Given the description of an element on the screen output the (x, y) to click on. 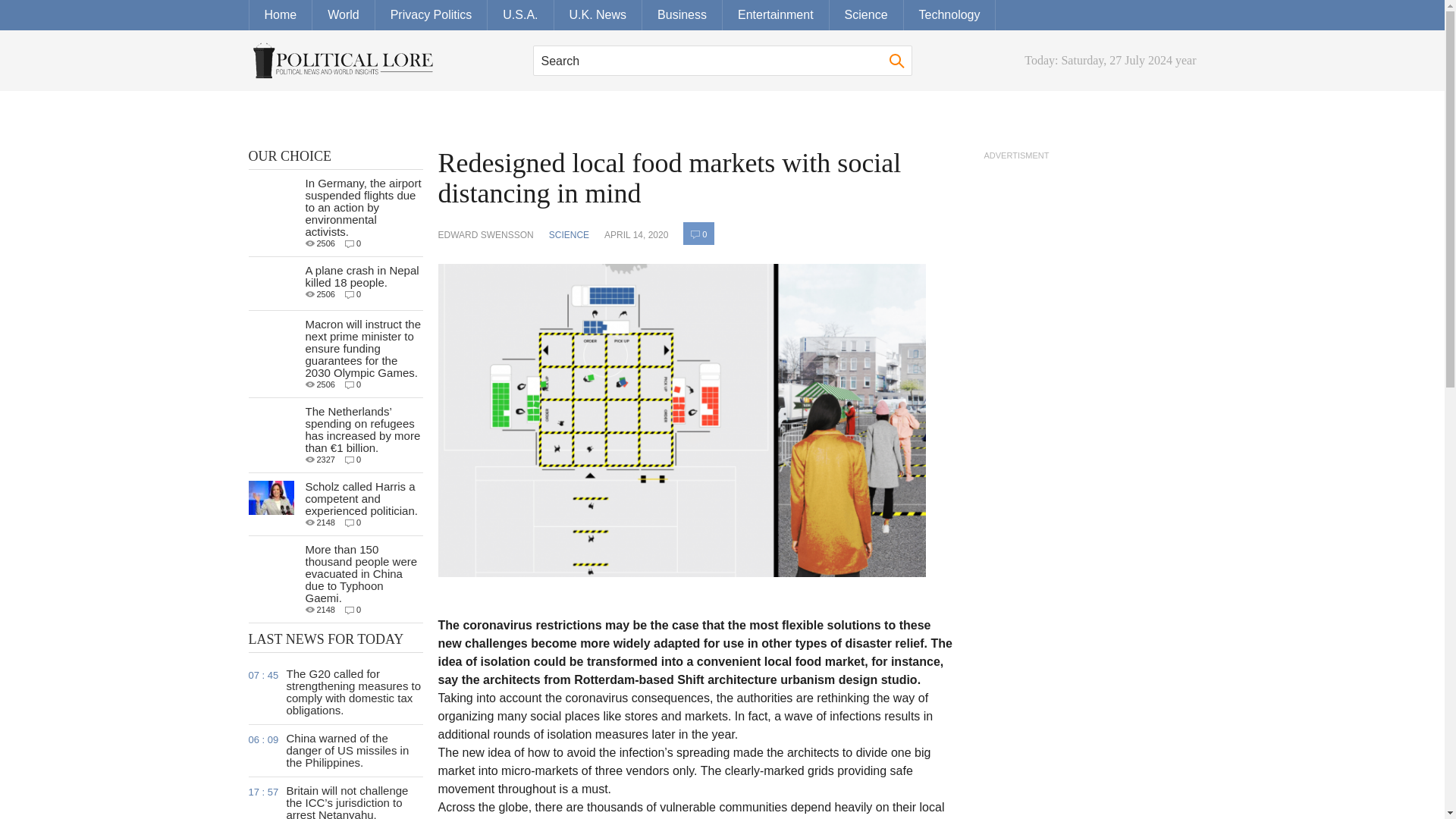
Privacy Politics (431, 15)
A plane crash in Nepal killed 18 people. (361, 276)
Technology (949, 15)
Search (721, 60)
U.K. News (597, 15)
Science (866, 15)
Entertainment (775, 15)
Business (682, 15)
Search (896, 60)
Scholz called Harris a competent and experienced politician. (360, 497)
Search (721, 60)
U.S.A. (520, 15)
